Given the description of an element on the screen output the (x, y) to click on. 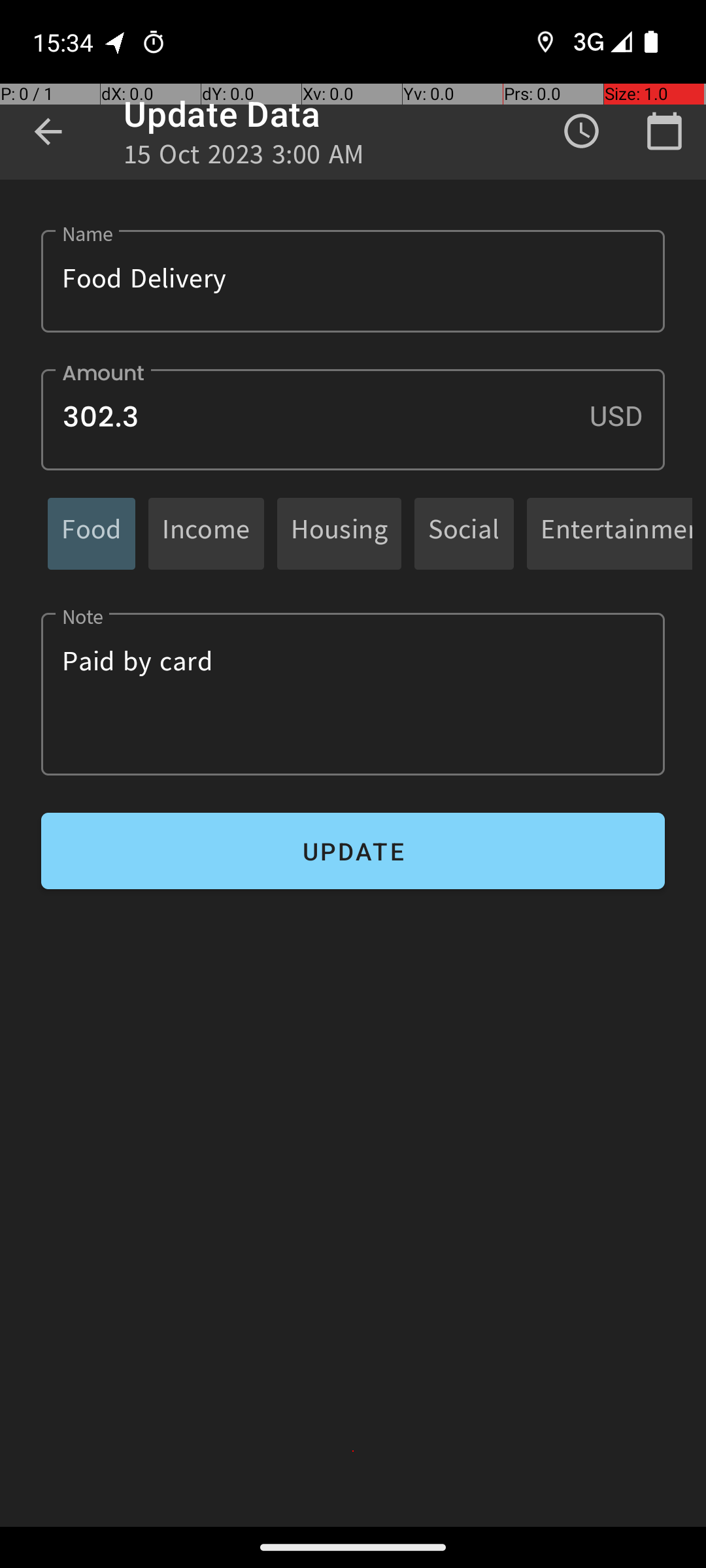
15 Oct 2023 3:00 AM Element type: android.widget.TextView (243, 157)
302.3 Element type: android.widget.EditText (352, 419)
